Given the description of an element on the screen output the (x, y) to click on. 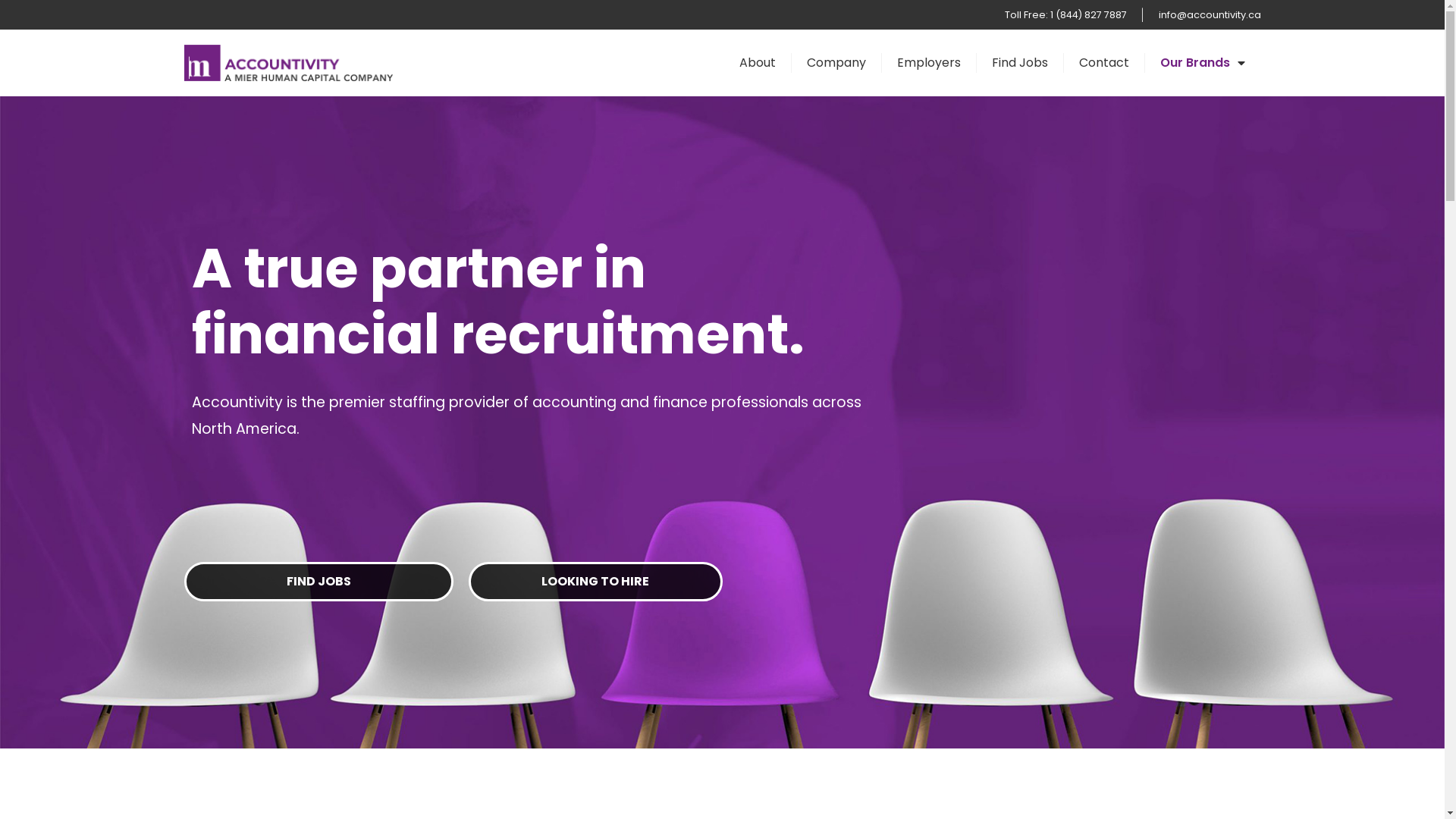
Find Jobs Element type: text (1019, 62)
Company Element type: text (836, 62)
Our Brands Element type: text (1202, 62)
Toll Free: 1 (844) 827 7887 Element type: text (1065, 14)
LOOKING TO HIRE Element type: text (595, 581)
About Element type: text (757, 62)
Employers Element type: text (928, 62)
Contact Element type: text (1104, 62)
FIND JOBS Element type: text (317, 581)
info@accountivity.ca Element type: text (1209, 14)
